Given the description of an element on the screen output the (x, y) to click on. 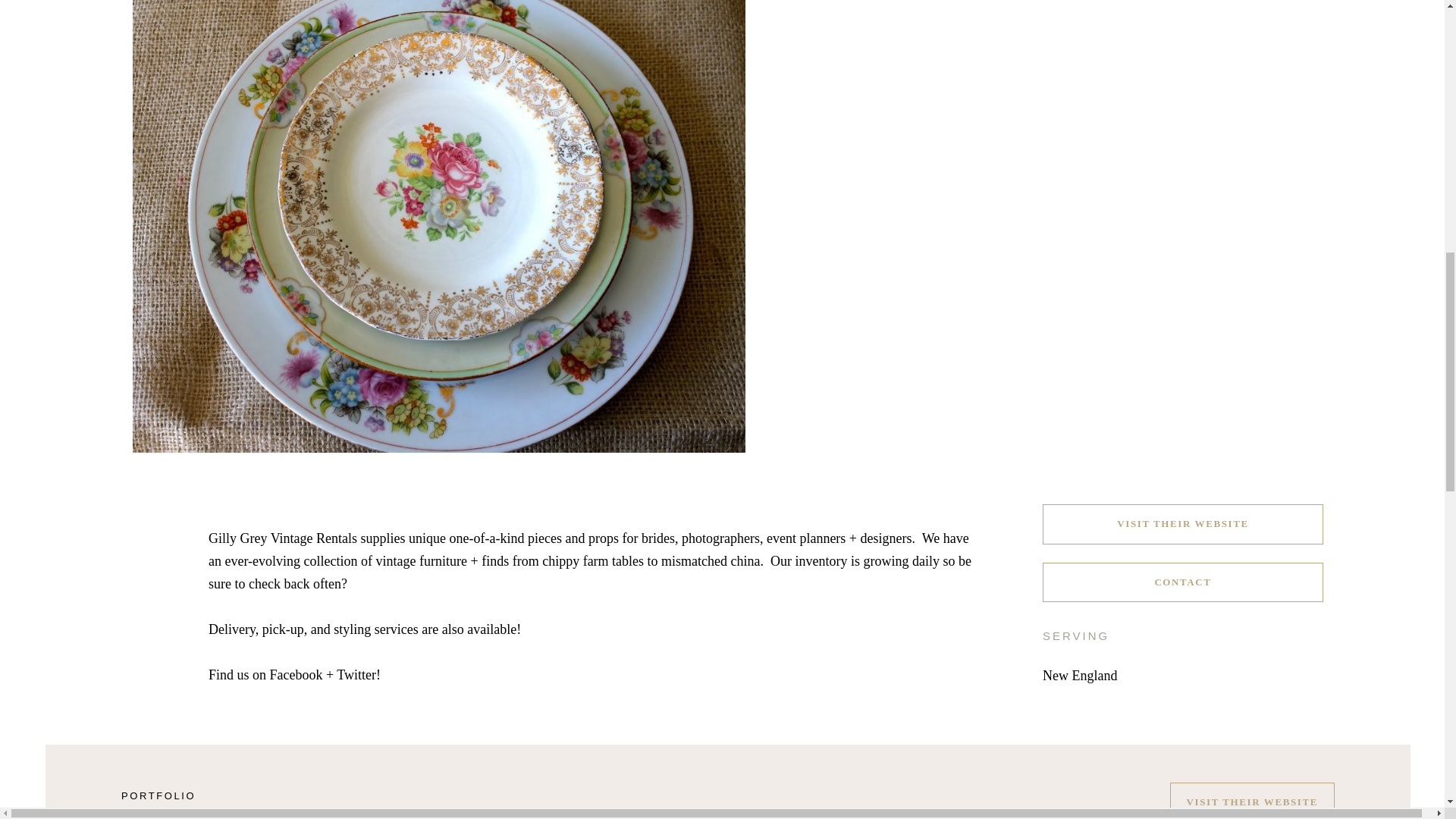
VISIT THEIR WEBSITE (1182, 523)
VISIT THEIR WEBSITE (1252, 800)
CONTACT (1182, 581)
